Given the description of an element on the screen output the (x, y) to click on. 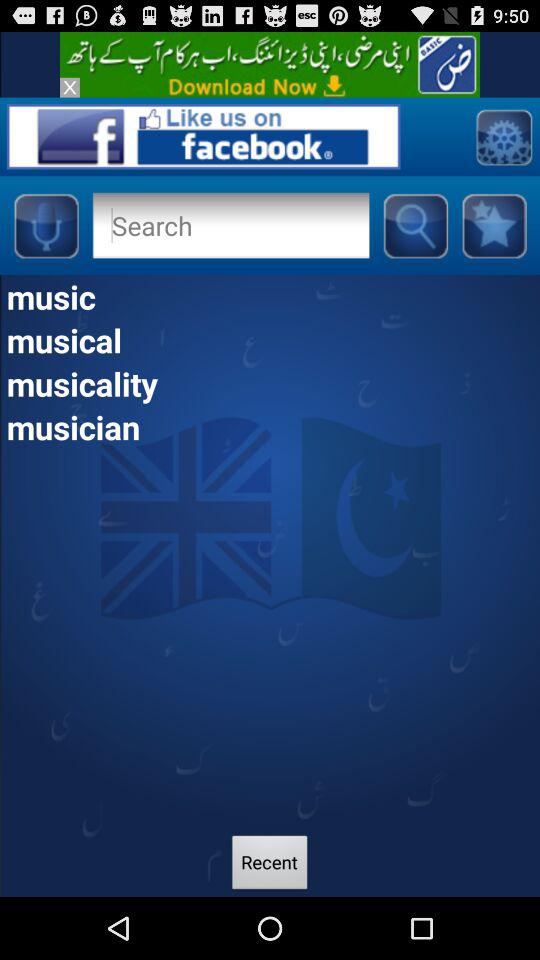
execute search (415, 225)
